Given the description of an element on the screen output the (x, y) to click on. 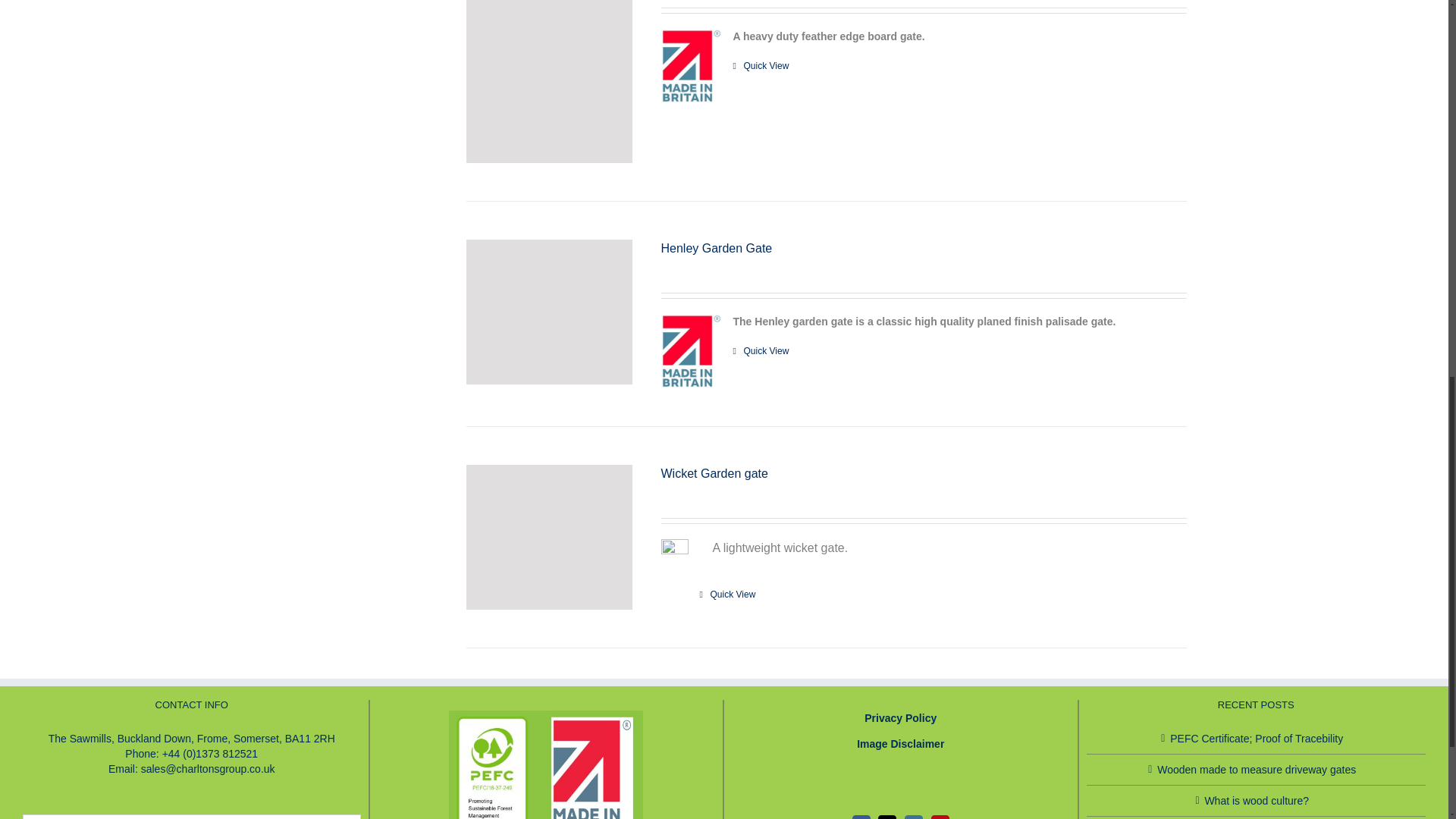
Instagram (913, 816)
Twitter (886, 816)
Facebook (860, 816)
Pinterest (940, 816)
